Given the description of an element on the screen output the (x, y) to click on. 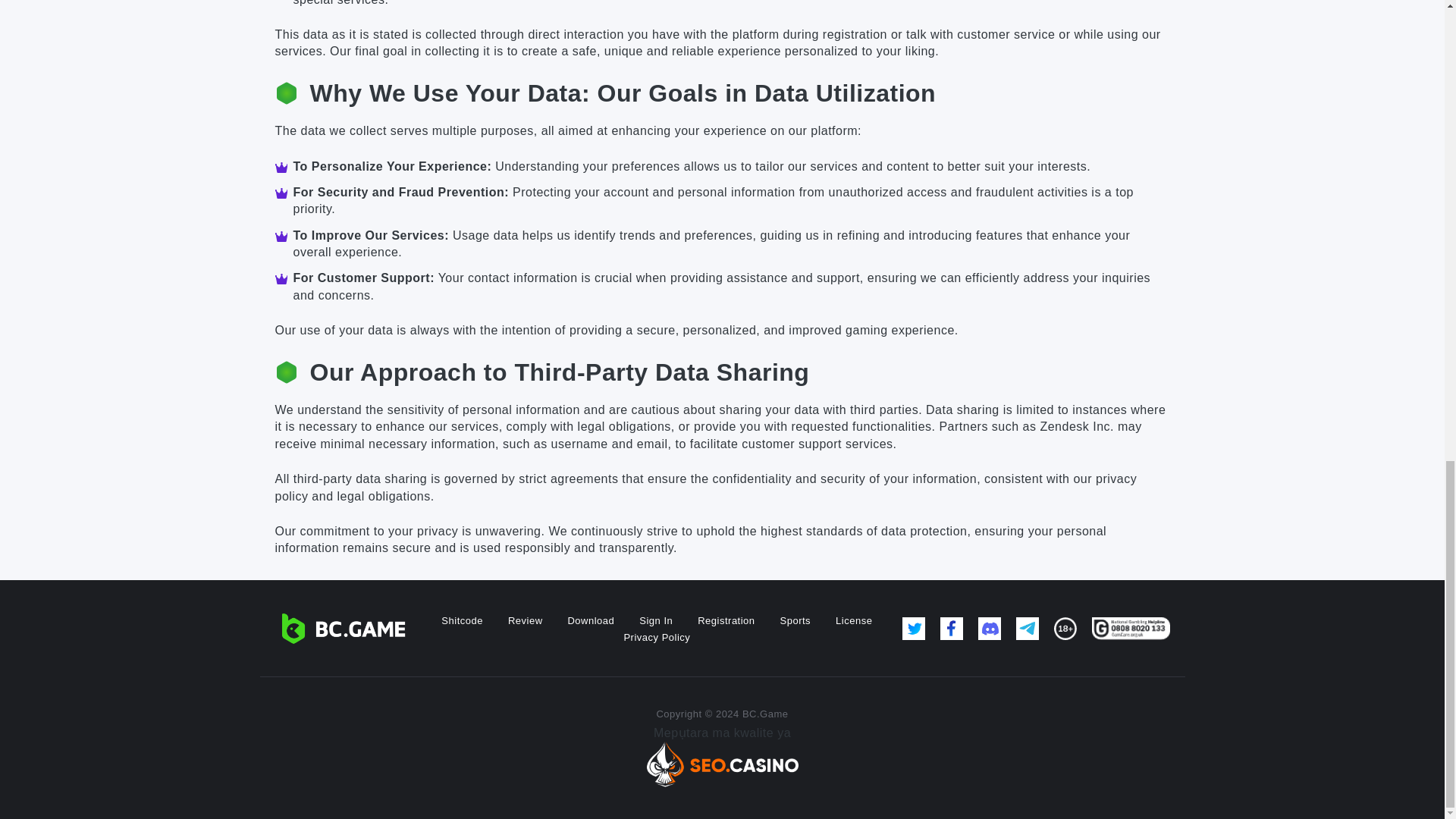
Privacy Policy (656, 636)
Registration (725, 620)
Sign In (655, 620)
Download (590, 620)
License (853, 620)
Sports (795, 620)
Review (525, 620)
Shitcode (462, 620)
